Given the description of an element on the screen output the (x, y) to click on. 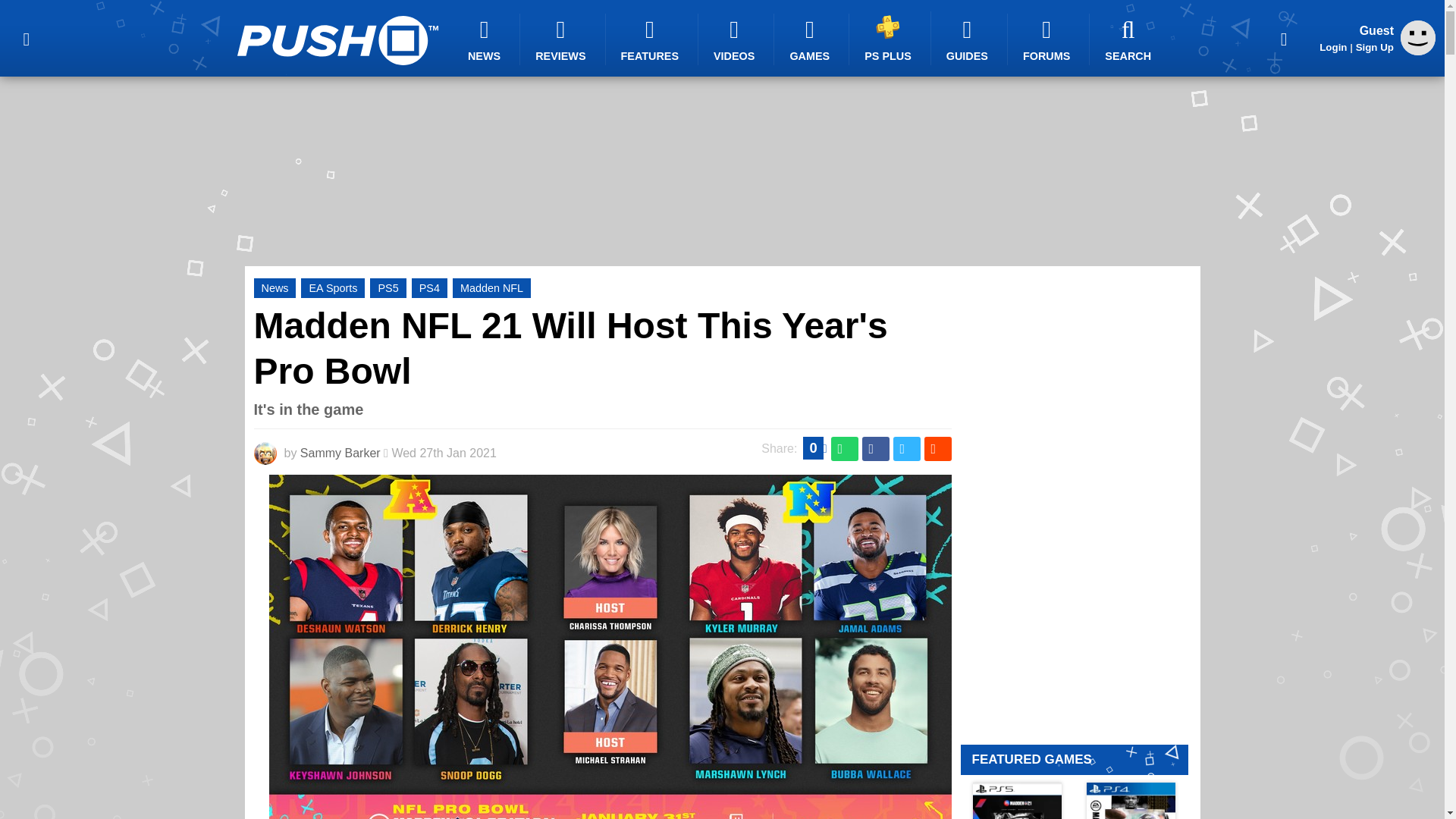
Guest (1417, 37)
FORUMS (1048, 39)
GUIDES (969, 39)
Share this on Reddit (936, 448)
NEWS (485, 39)
Menu (26, 37)
Madden NFL 21 Will Host This Year's Pro Bowl (569, 348)
PS5 (387, 288)
FEATURES (651, 39)
Login (1332, 47)
